Given the description of an element on the screen output the (x, y) to click on. 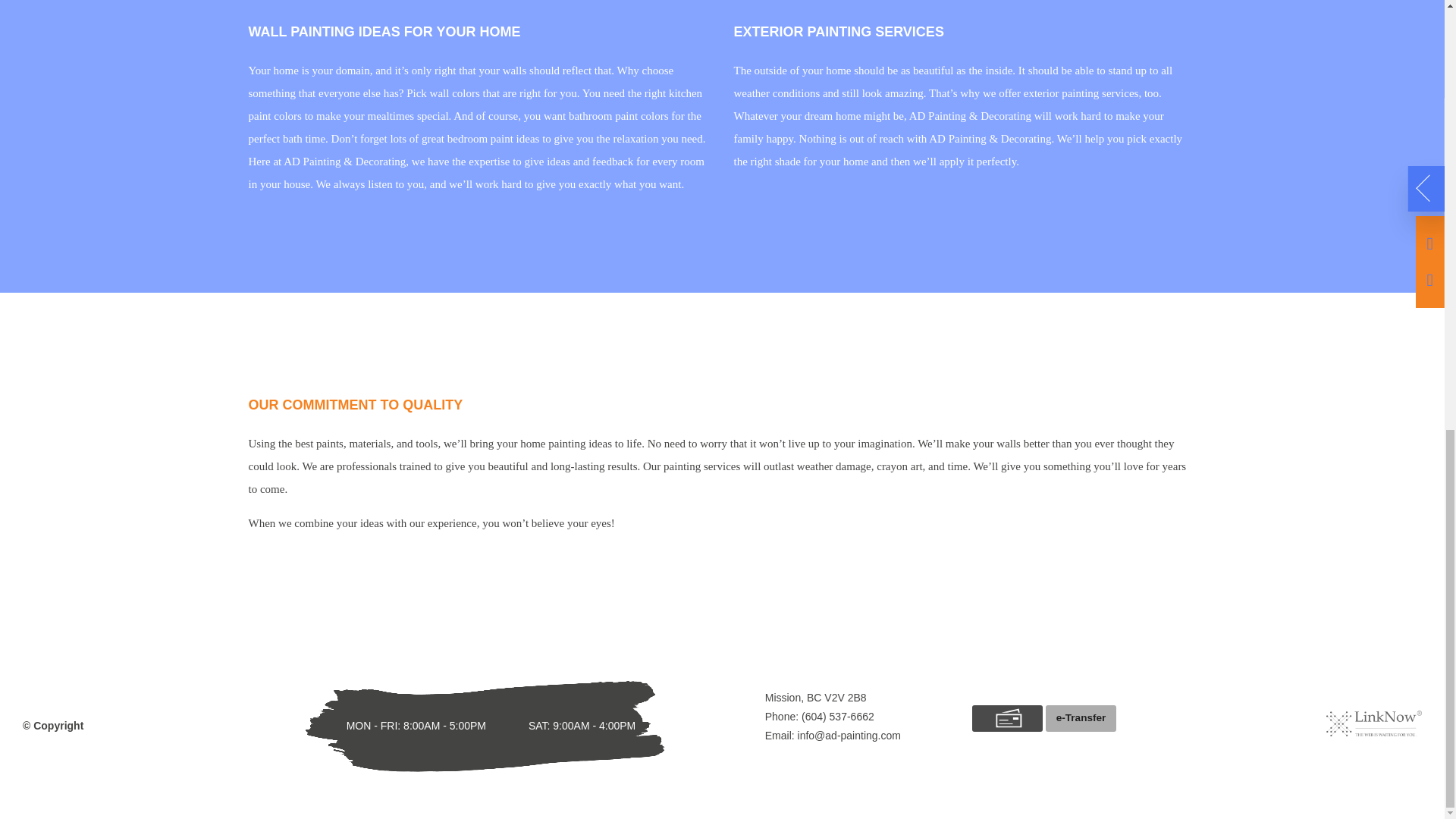
e-Transfer (1080, 718)
